Given the description of an element on the screen output the (x, y) to click on. 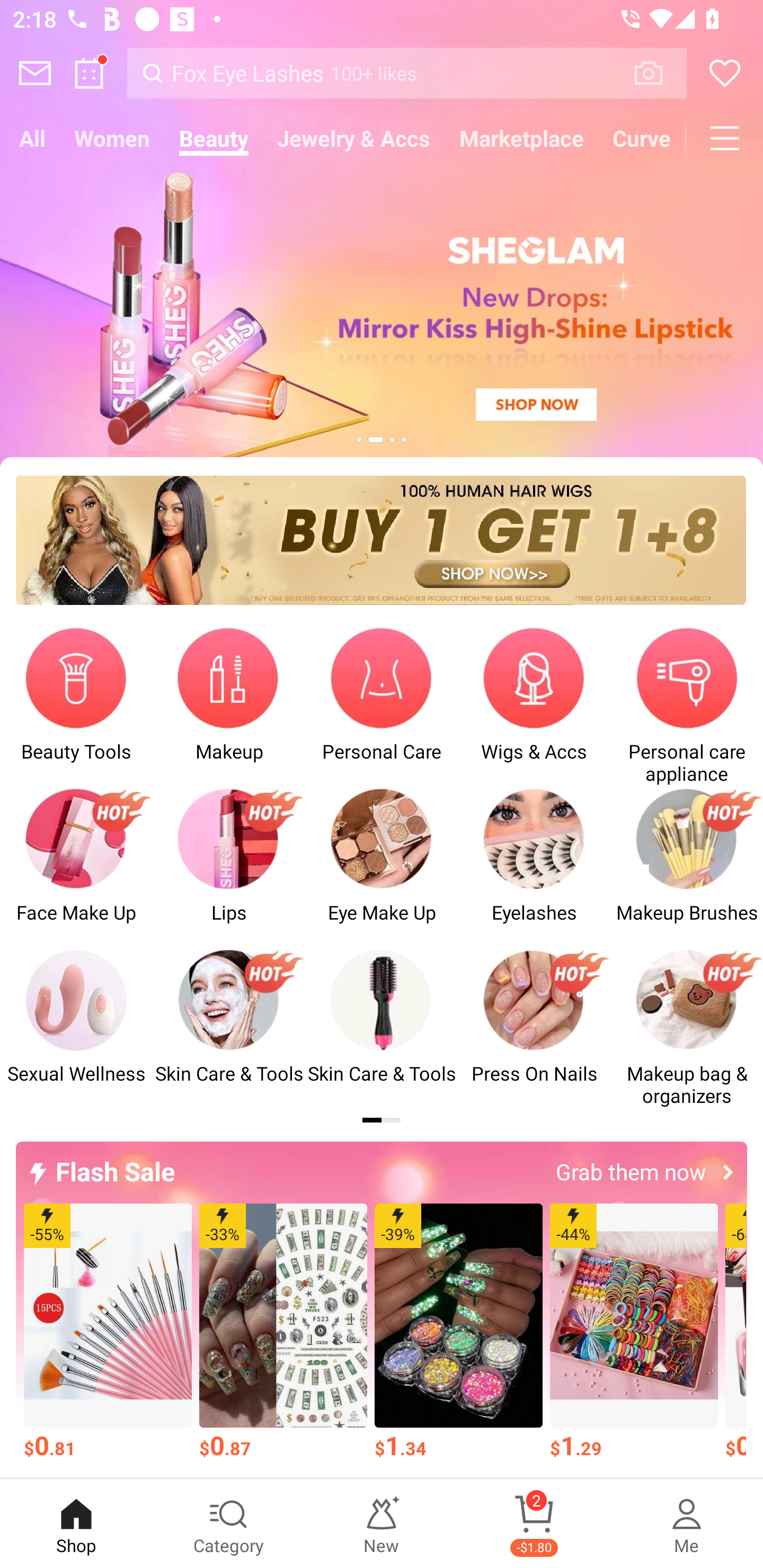
Wishlist (724, 72)
VISUAL SEARCH (657, 72)
All (31, 137)
Women (111, 137)
Beauty (213, 137)
Jewelry & Accs (353, 137)
Marketplace (521, 137)
Curve (641, 137)
Beauty Tools (76, 705)
Makeup (228, 705)
Personal Care (381, 705)
Wigs & Accs (533, 705)
Personal care appliance (686, 705)
Face Make Up (76, 866)
Lips (228, 866)
Eye Make Up (381, 866)
Eyelashes (533, 866)
Makeup Brushes (686, 866)
Sexual Wellness (76, 1027)
Skin Care & Tools (228, 1027)
Skin Care & Tools (381, 1027)
Press On Nails (533, 1027)
Makeup bag & organizers (686, 1027)
Category (228, 1523)
New (381, 1523)
Cart 2 -$1.80 (533, 1523)
Me (686, 1523)
